Given the description of an element on the screen output the (x, y) to click on. 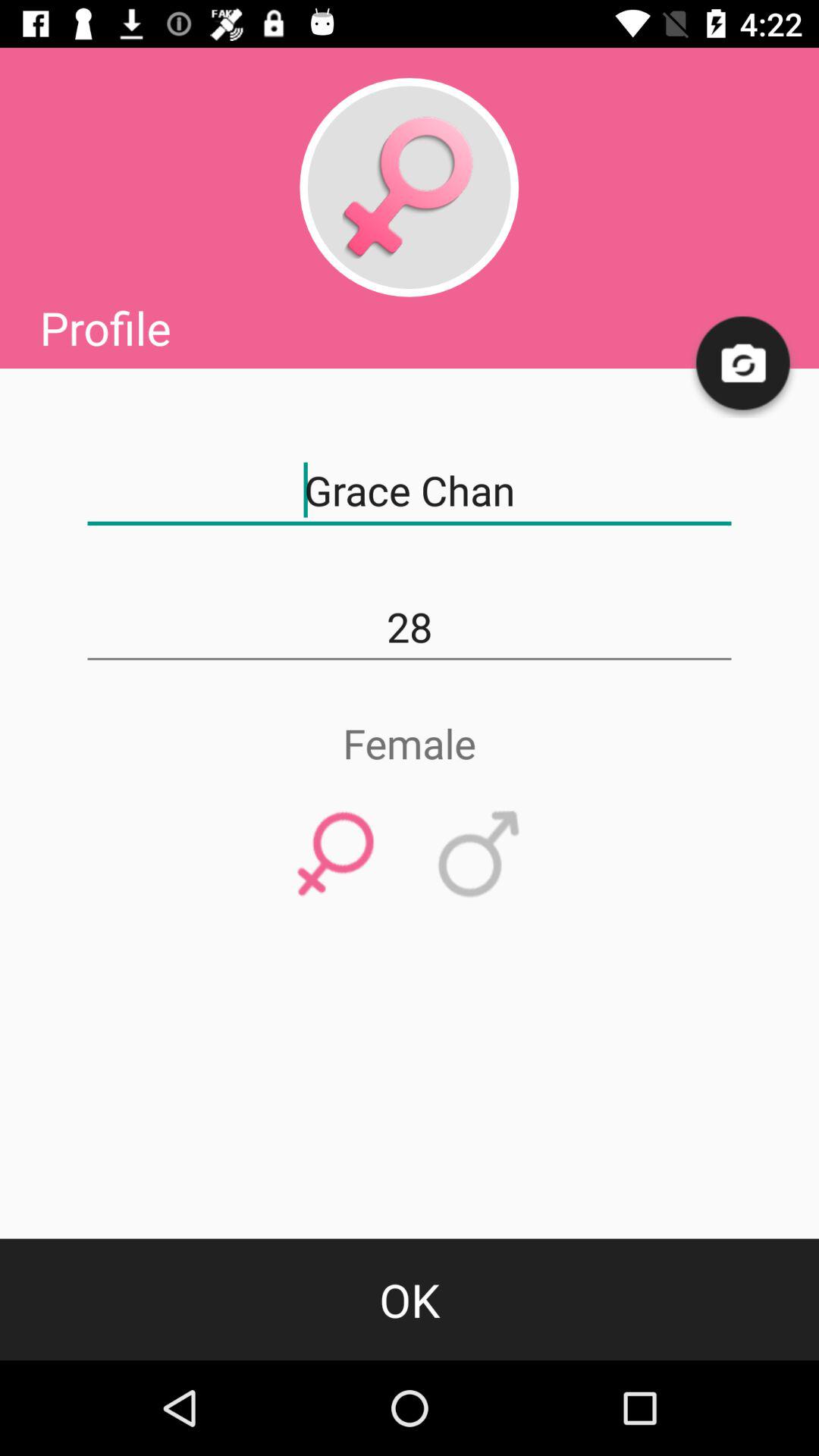
click item above profile (408, 186)
